Given the description of an element on the screen output the (x, y) to click on. 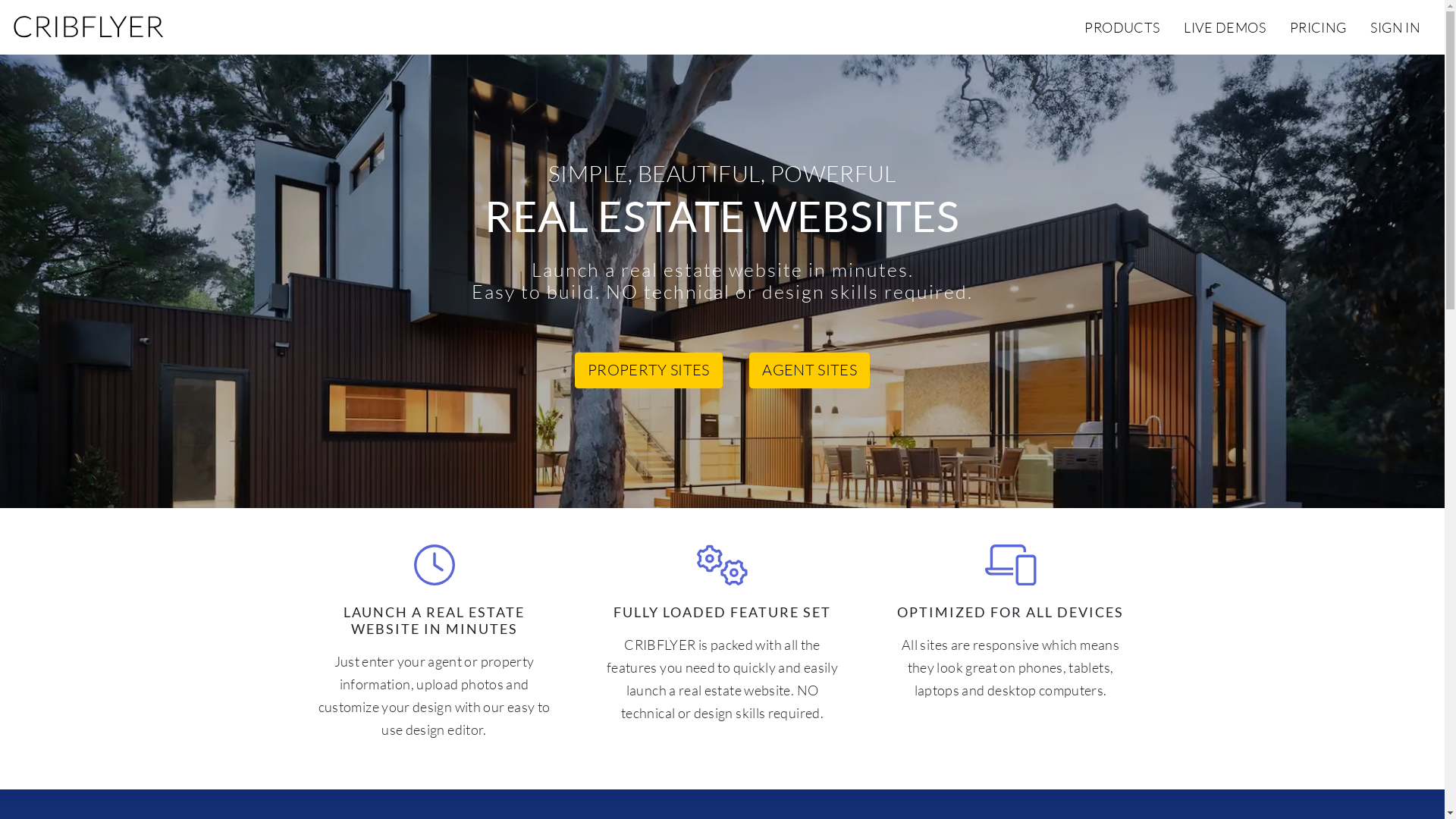
PRODUCTS Element type: text (1121, 27)
PRICING Element type: text (1317, 27)
SIGN IN Element type: text (1395, 27)
PROPERTY SITES Element type: text (648, 370)
LIVE DEMOS Element type: text (1224, 27)
AGENT SITES Element type: text (809, 370)
